Given the description of an element on the screen output the (x, y) to click on. 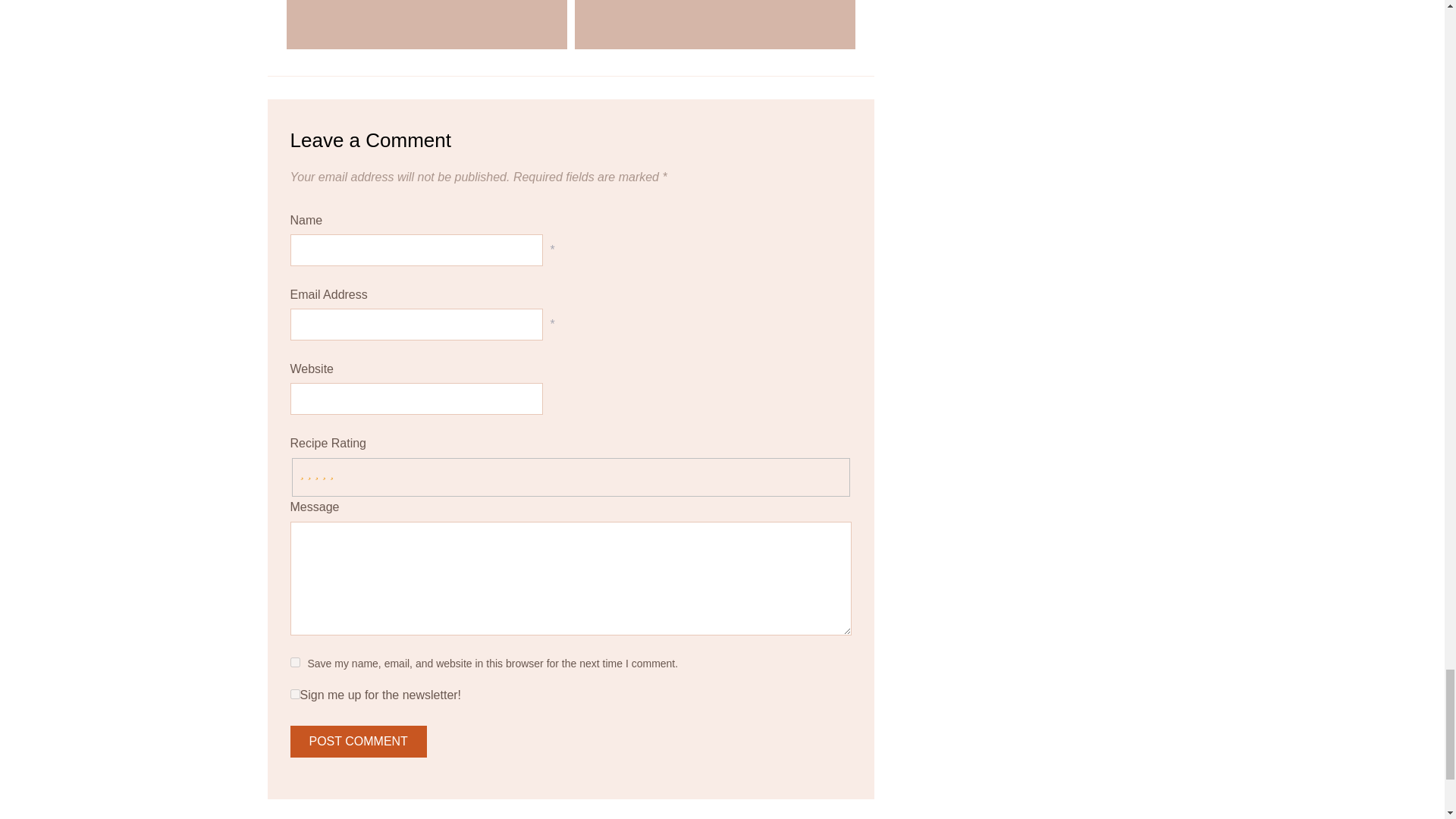
1 (294, 694)
Post Comment (357, 741)
yes (294, 662)
